Given the description of an element on the screen output the (x, y) to click on. 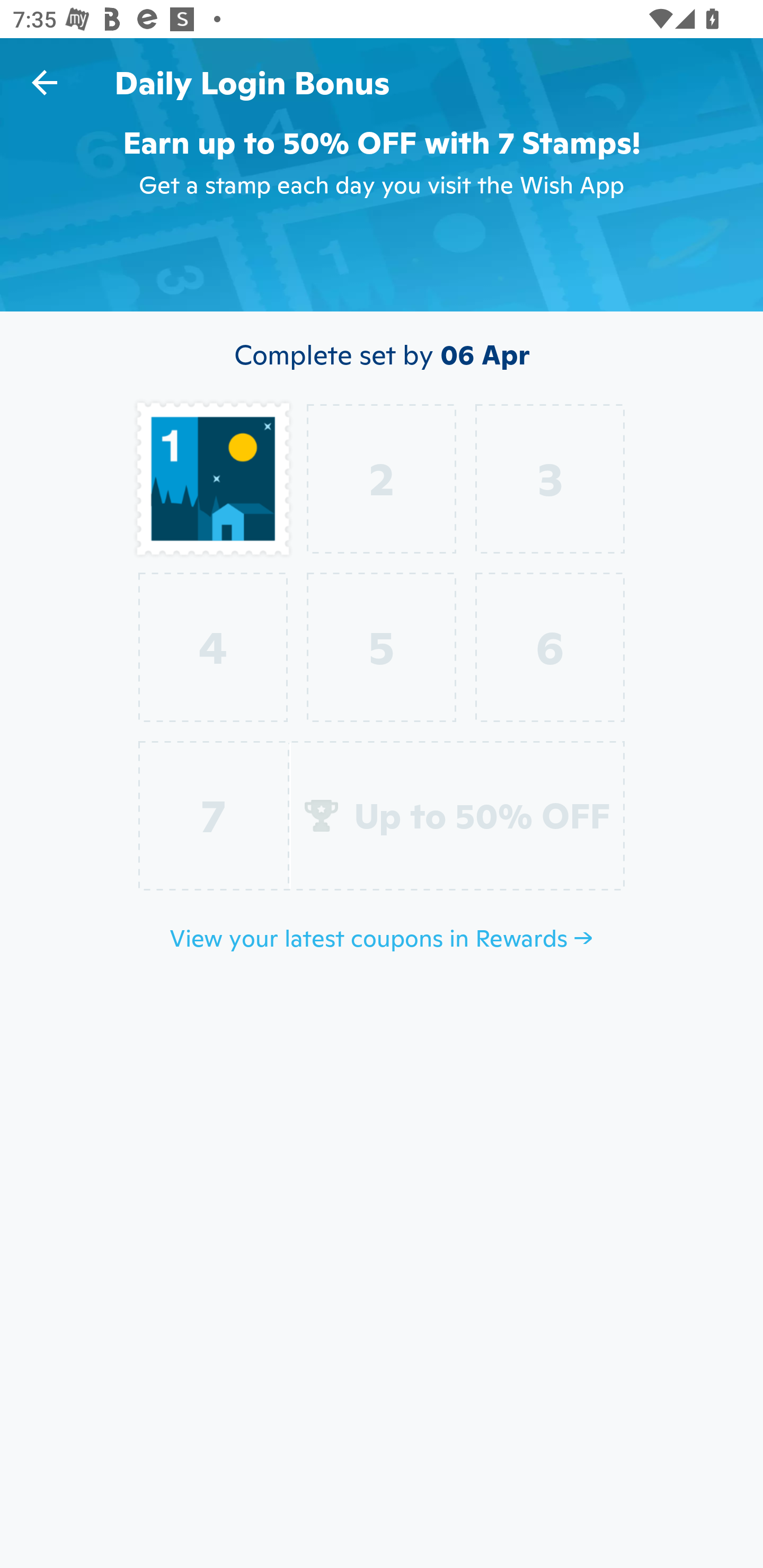
Navigate up (44, 82)
View your latest coupons in Rewards → (381, 938)
